Given the description of an element on the screen output the (x, y) to click on. 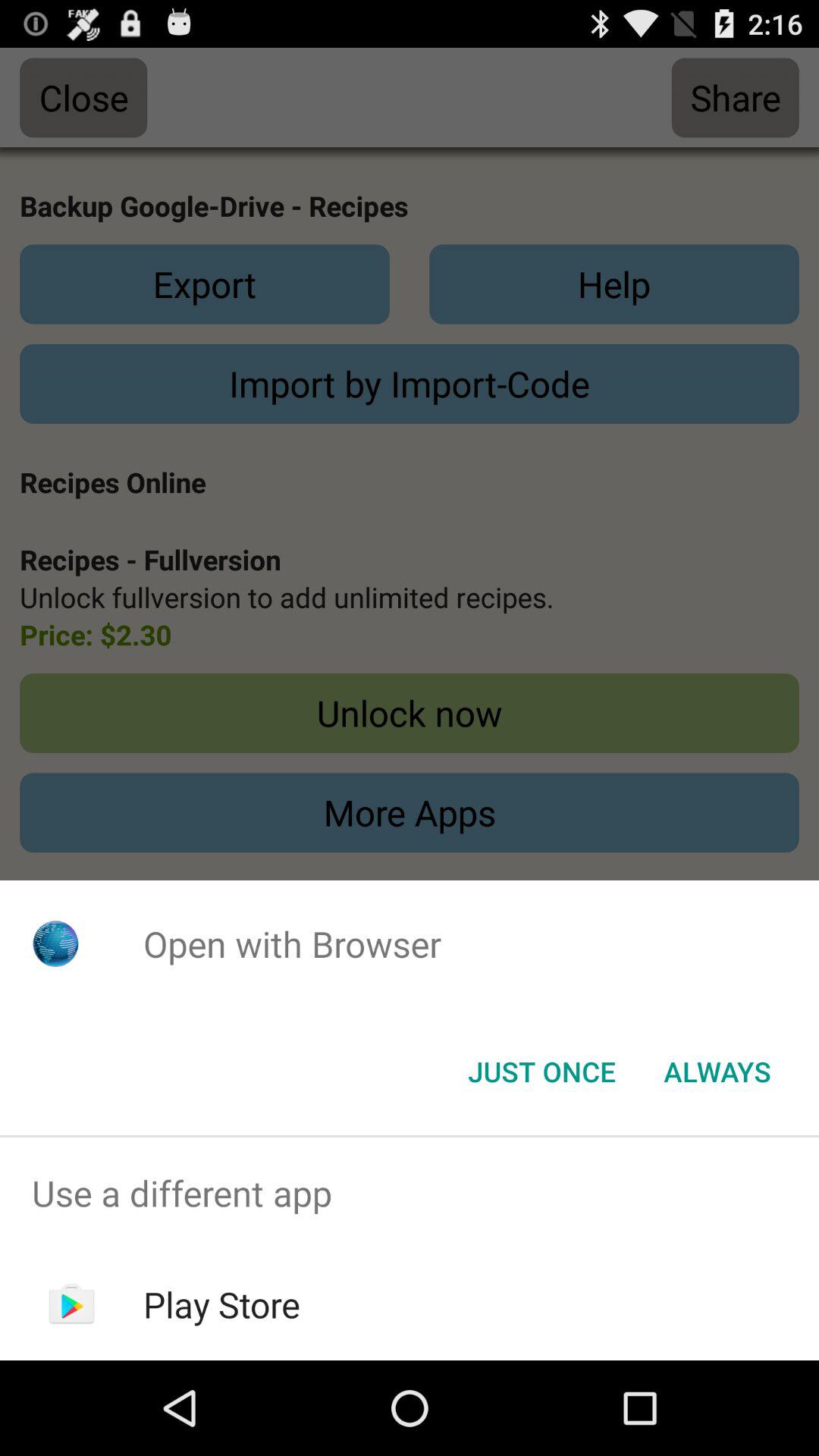
turn off the play store item (221, 1304)
